Given the description of an element on the screen output the (x, y) to click on. 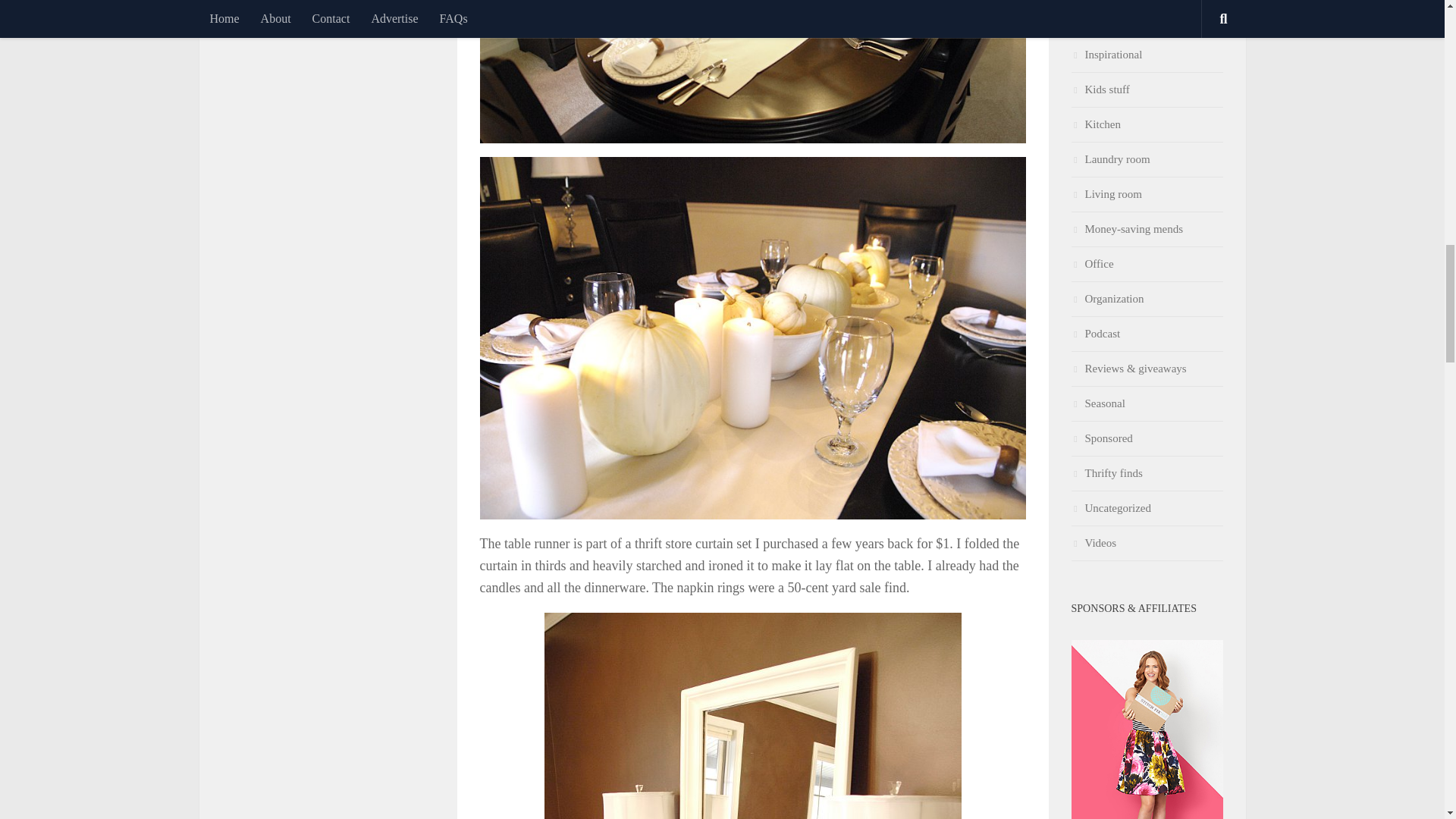
Fall buffet 2 (752, 715)
Fall tablescape (752, 71)
